Given the description of an element on the screen output the (x, y) to click on. 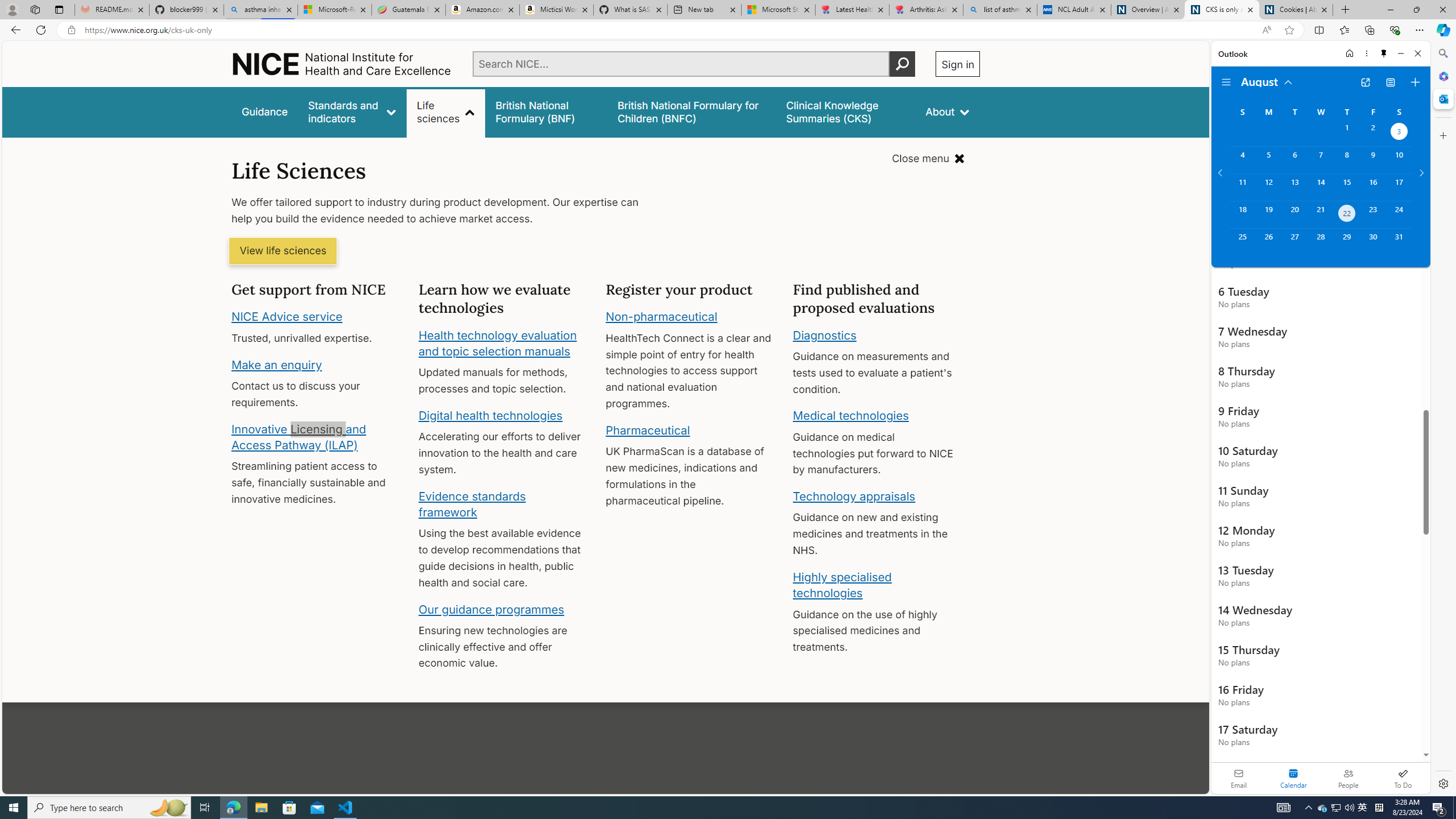
Wednesday, August 28, 2024.  (1320, 241)
Friday, August 30, 2024.  (1372, 241)
CKS is only available in the UK | NICE (1221, 9)
Unpin side pane (1383, 53)
Saturday, August 10, 2024.  (1399, 159)
Tuesday, August 6, 2024.  (1294, 159)
Wednesday, August 7, 2024.  (1320, 159)
Monday, August 12, 2024.  (1268, 186)
